Given the description of an element on the screen output the (x, y) to click on. 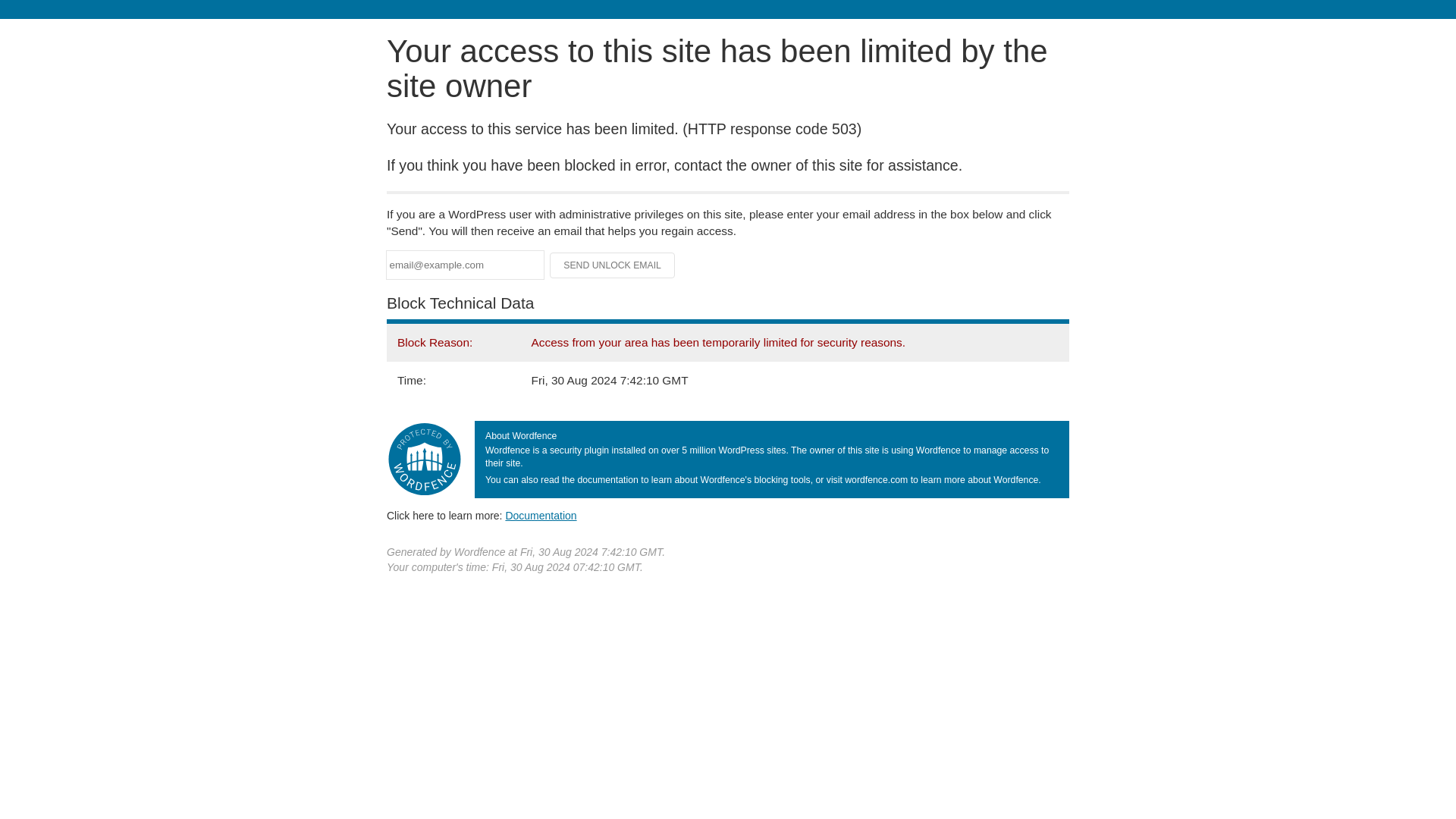
Send Unlock Email (612, 265)
Documentation (540, 515)
Send Unlock Email (612, 265)
